Given the description of an element on the screen output the (x, y) to click on. 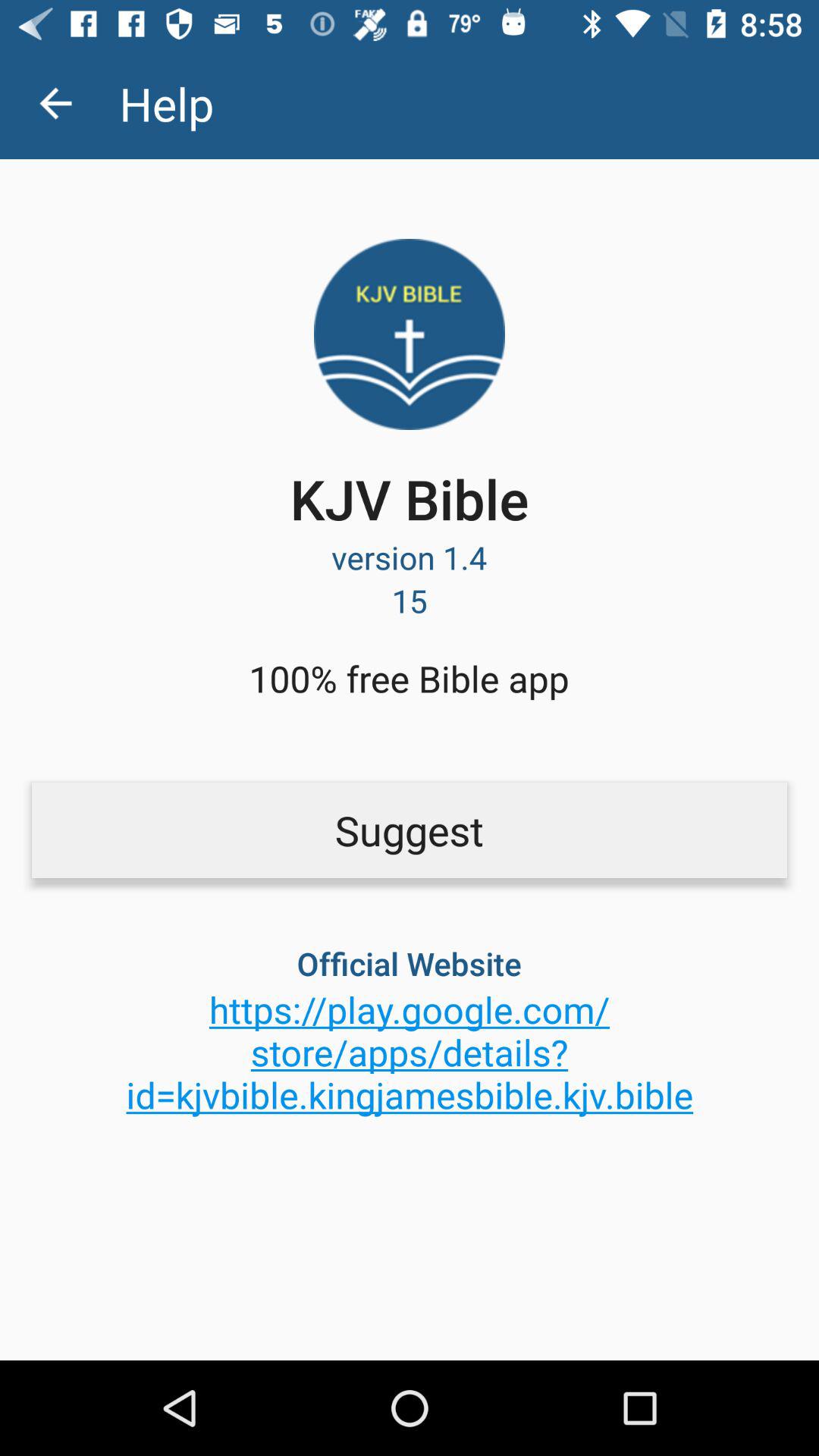
turn off 100 free bible item (409, 678)
